Given the description of an element on the screen output the (x, y) to click on. 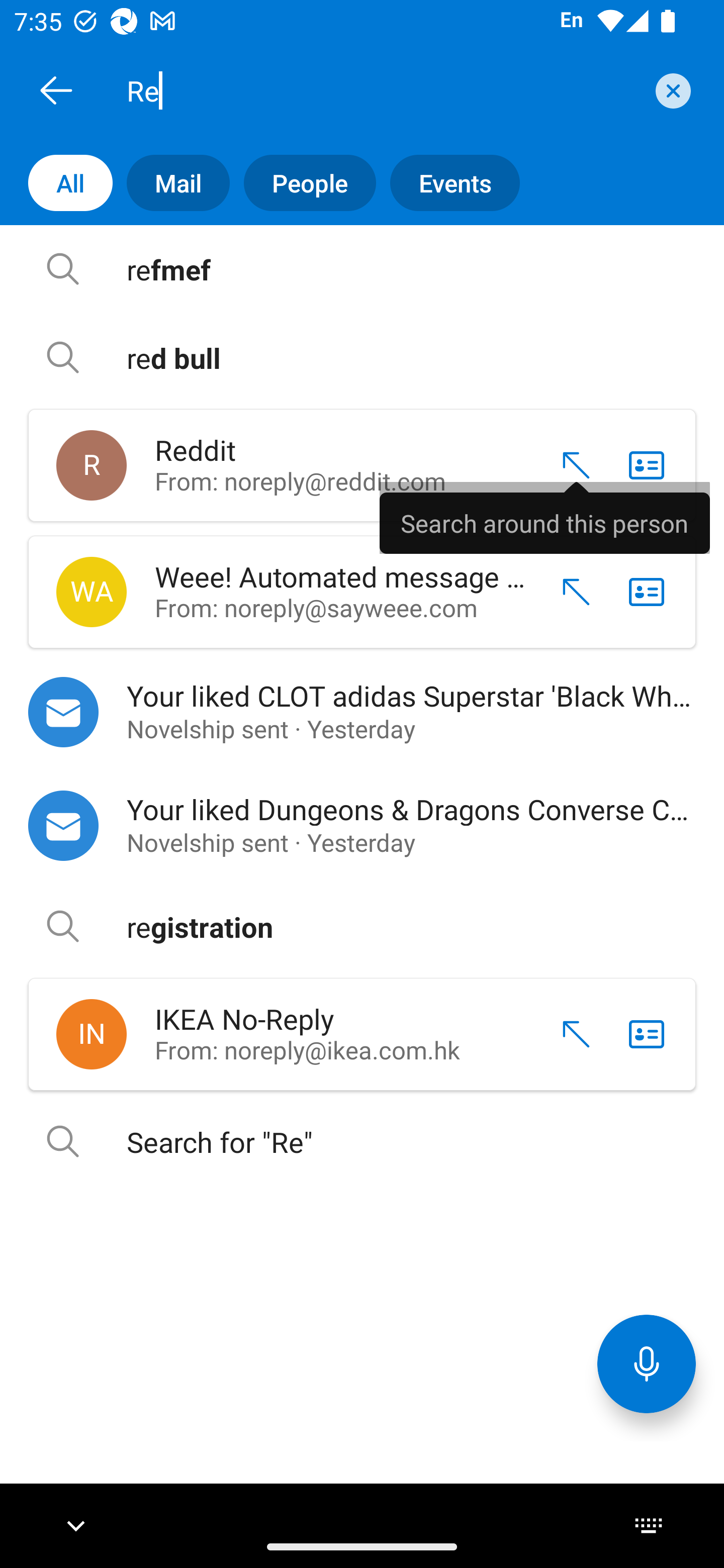
Search around this person (544, 517)
